Given the description of an element on the screen output the (x, y) to click on. 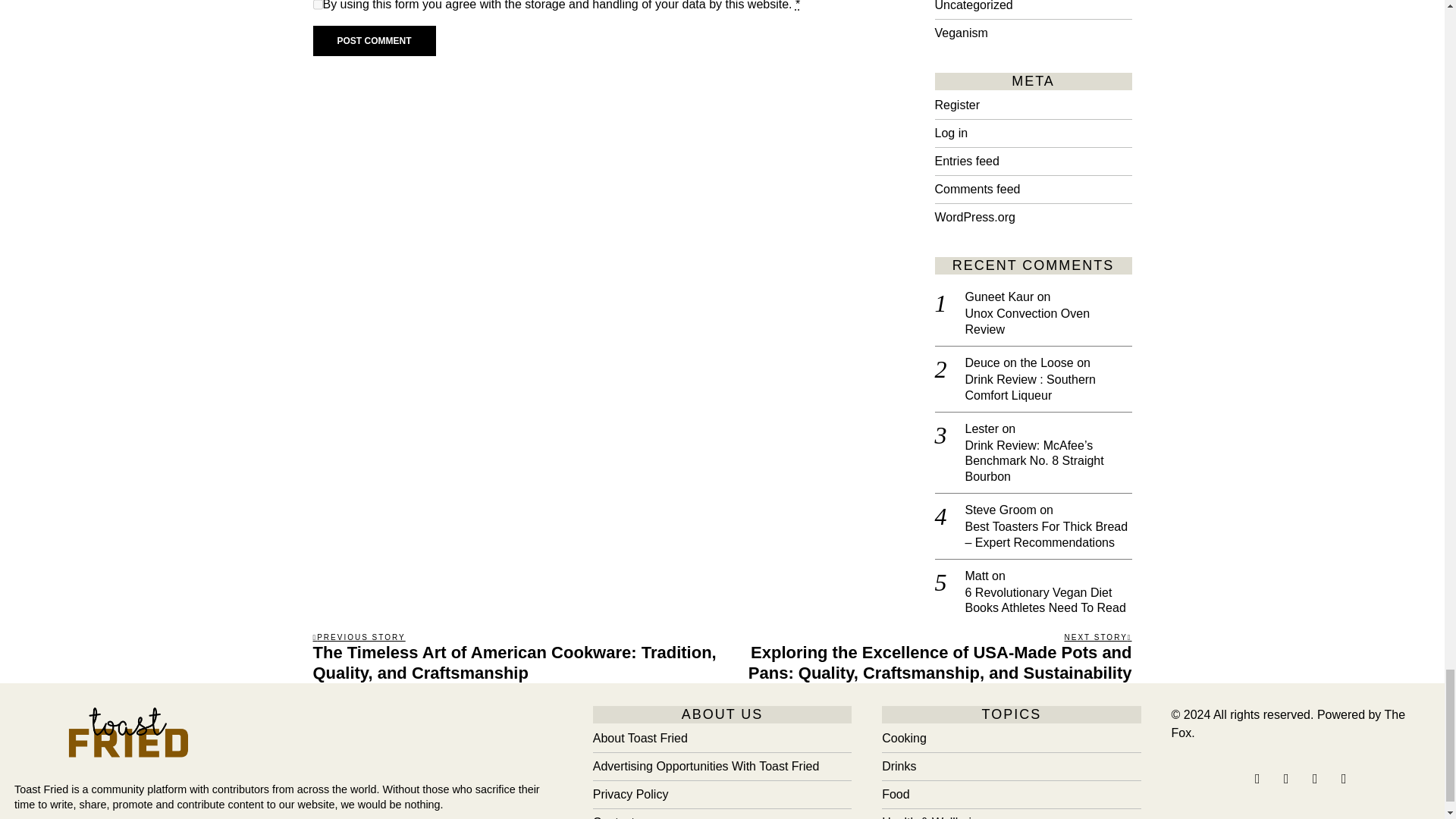
Post Comment (374, 40)
1 (317, 6)
